Given the description of an element on the screen output the (x, y) to click on. 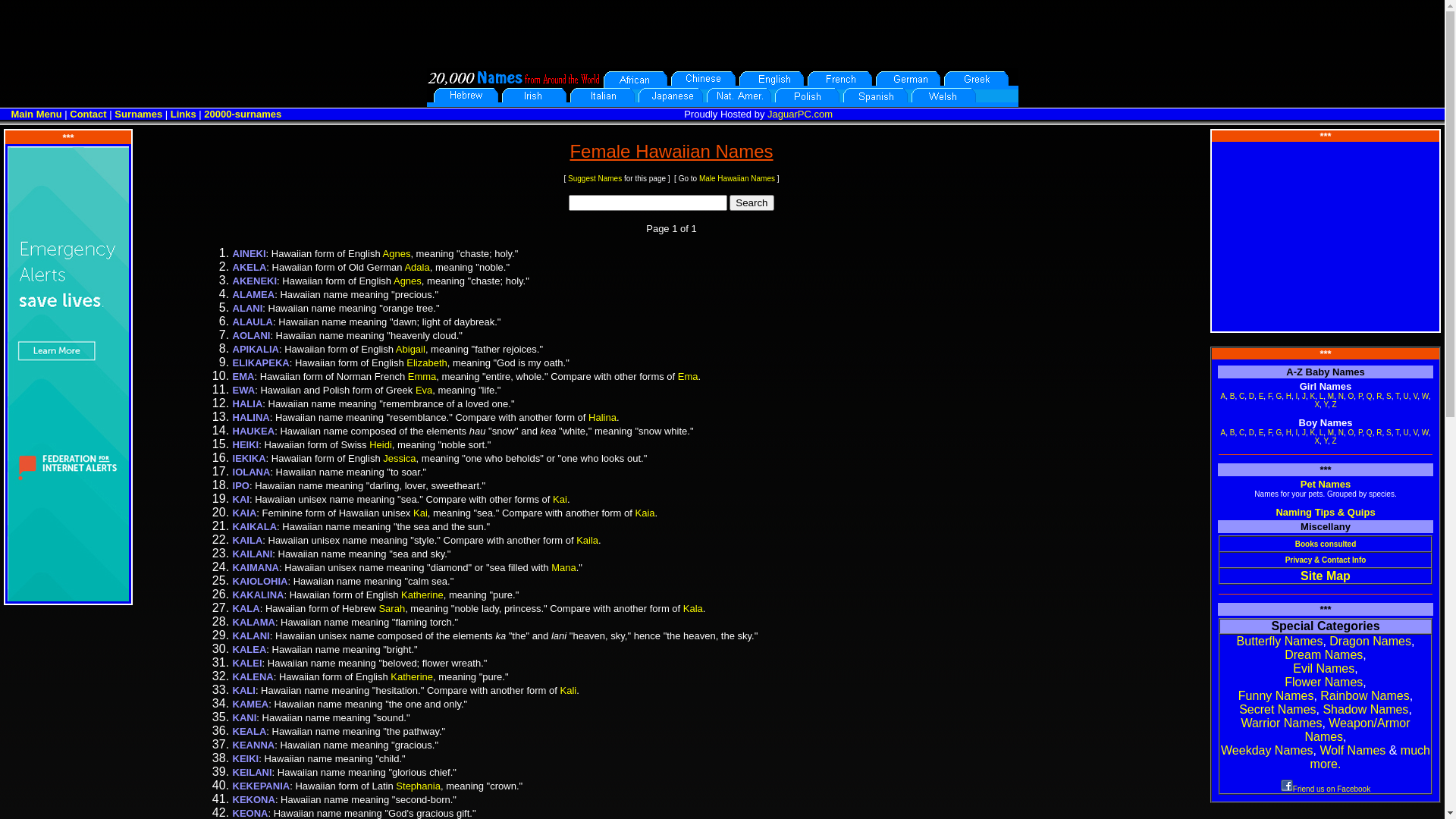
Kala Element type: text (692, 608)
Mana Element type: text (563, 567)
Ema Element type: text (687, 376)
R Element type: text (1378, 432)
20000-surnames Element type: text (242, 113)
Naming Tips & Quips Element type: text (1324, 511)
M Element type: text (1330, 432)
F Element type: text (1269, 432)
Wolf Names Element type: text (1352, 749)
KAI Element type: text (240, 499)
O Element type: text (1351, 396)
D Element type: text (1251, 396)
L Element type: text (1321, 396)
Kai Element type: text (559, 499)
Eva Element type: text (423, 389)
T Element type: text (1397, 432)
Z Element type: text (1333, 440)
R Element type: text (1378, 396)
F Element type: text (1269, 396)
V Element type: text (1414, 396)
Stephania Element type: text (417, 785)
H Element type: text (1288, 396)
Surnames Element type: text (138, 113)
D Element type: text (1251, 432)
Shadow Names Element type: text (1365, 708)
Site Map Element type: text (1325, 574)
T Element type: text (1397, 396)
Weapon/Armor Names Element type: text (1356, 729)
Funny Names Element type: text (1276, 695)
KAIA Element type: text (244, 511)
W Element type: text (1424, 396)
KALI Element type: text (243, 690)
Links Element type: text (183, 113)
AKELA Element type: text (249, 267)
K Element type: text (1311, 432)
G Element type: text (1278, 432)
X Element type: text (1316, 404)
Rainbow Names Element type: text (1364, 695)
G Element type: text (1278, 396)
Elizabeth Element type: text (426, 362)
Books consulted Element type: text (1325, 543)
H Element type: text (1288, 432)
Kaila Element type: text (587, 540)
Butterfly Names Element type: text (1279, 640)
I Element type: text (1296, 432)
Dream Names Element type: text (1323, 654)
J Element type: text (1303, 432)
V Element type: text (1414, 432)
K Element type: text (1311, 396)
E Element type: text (1261, 396)
Main Menu Element type: text (35, 113)
E Element type: text (1261, 432)
W Element type: text (1424, 432)
L Element type: text (1321, 432)
Q Element type: text (1369, 396)
Agnes Element type: text (407, 280)
N Element type: text (1340, 432)
Warrior Names Element type: text (1280, 722)
Advertisement Element type: hover (1325, 236)
Advertisement Element type: hover (721, 34)
C Element type: text (1241, 432)
Friend us on Facebook Element type: text (1325, 788)
B Element type: text (1232, 396)
Abigail Element type: text (410, 348)
Katherine Element type: text (411, 676)
Contact Element type: text (87, 113)
Flower Names Element type: text (1323, 681)
Heidi Element type: text (380, 444)
Z Element type: text (1333, 404)
Halina Element type: text (602, 417)
Sarah Element type: text (391, 608)
Katherine Element type: text (422, 594)
Emma Element type: text (421, 376)
Agnes Element type: text (396, 253)
Y Element type: text (1325, 440)
Dragon Names Element type: text (1370, 640)
P Element type: text (1359, 396)
J Element type: text (1303, 396)
A Element type: text (1223, 396)
Secret Names Element type: text (1277, 708)
P Element type: text (1359, 432)
S Element type: text (1388, 396)
Privacy & Contact Info Element type: text (1325, 559)
N Element type: text (1340, 396)
Weekday Names Element type: text (1266, 749)
B Element type: text (1232, 432)
X Element type: text (1316, 440)
O Element type: text (1351, 432)
KAILA Element type: text (247, 540)
Pet Names Element type: text (1325, 482)
M Element type: text (1330, 396)
I Element type: text (1296, 396)
C Element type: text (1241, 396)
Search Element type: text (751, 202)
Kaia Element type: text (644, 512)
Jessica Element type: text (398, 458)
Kali Element type: text (567, 690)
KALA Element type: text (246, 608)
Evil Names Element type: text (1323, 668)
much more. Element type: text (1370, 756)
U Element type: text (1405, 396)
JaguarPC.com Element type: text (799, 113)
Adala Element type: text (416, 267)
Y Element type: text (1325, 404)
Male Hawaiian Names Element type: text (737, 178)
A Element type: text (1223, 432)
Suggest Names Element type: text (594, 178)
S Element type: text (1388, 432)
Kai Element type: text (420, 512)
U Element type: text (1405, 432)
Q Element type: text (1369, 432)
